Given the description of an element on the screen output the (x, y) to click on. 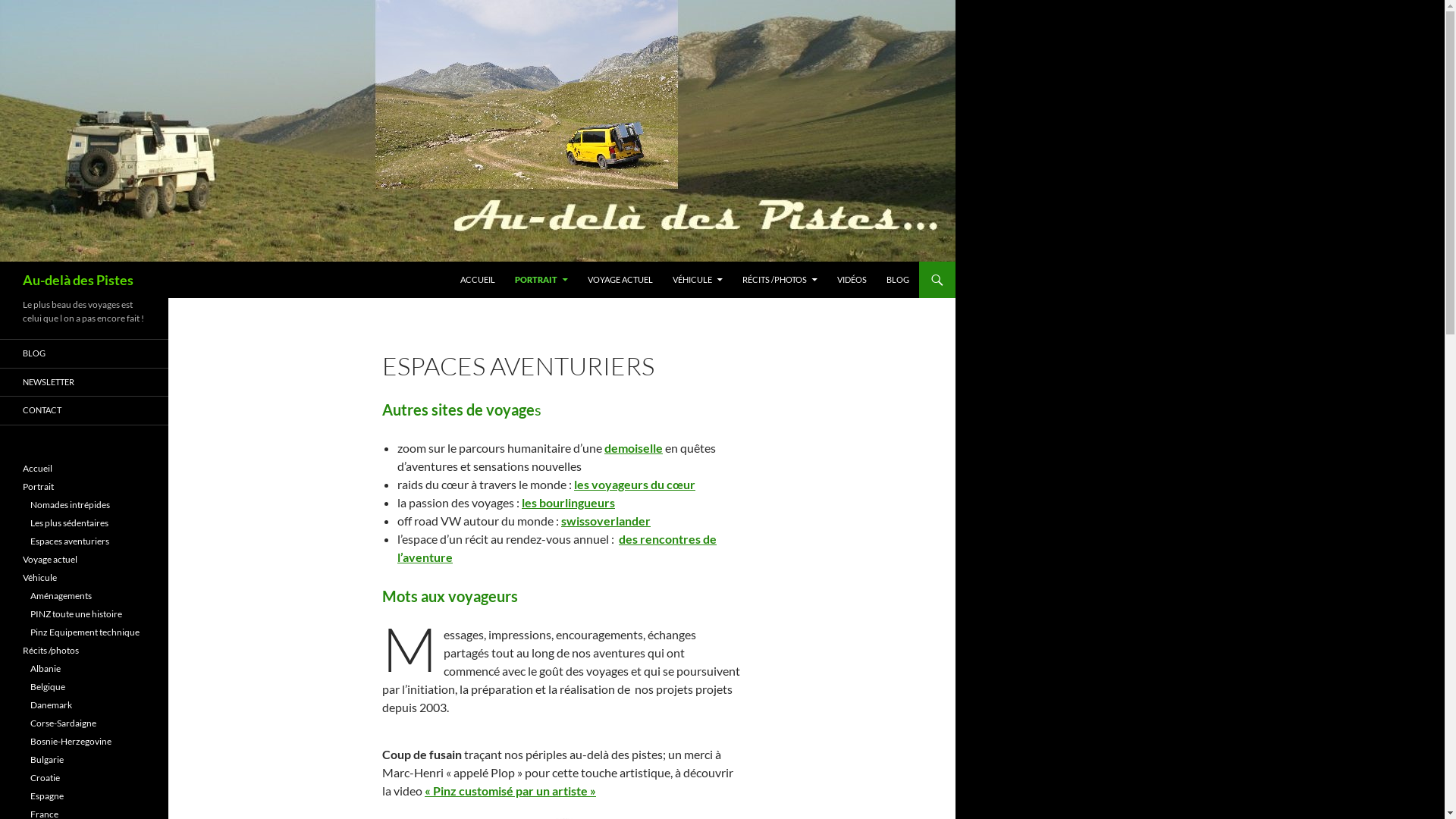
Albanie Element type: text (45, 668)
Espaces aventuriers Element type: text (69, 540)
Bosnie-Herzegovine Element type: text (70, 740)
CONTACT Element type: text (84, 410)
Bulgarie Element type: text (46, 759)
VOYAGE ACTUEL Element type: text (620, 279)
Pinz Equipement technique Element type: text (84, 631)
Danemark Element type: text (51, 704)
Voyage actuel Element type: text (49, 558)
ACCUEIL Element type: text (477, 279)
Croatie Element type: text (44, 777)
swissoverlander Element type: text (605, 520)
Espagne Element type: text (46, 795)
Portrait Element type: text (37, 486)
les bourlingueurs Element type: text (568, 502)
Corse-Sardaigne Element type: text (63, 722)
Belgique Element type: text (47, 686)
demoiselle Element type: text (633, 447)
Accueil Element type: text (37, 467)
Recherche Element type: text (3, 261)
ALLER AU CONTENU Element type: text (460, 261)
PINZ toute une histoire Element type: text (76, 613)
BLOG Element type: text (84, 353)
BLOG Element type: text (897, 279)
PORTRAIT Element type: text (541, 279)
NEWSLETTER Element type: text (84, 382)
